Given the description of an element on the screen output the (x, y) to click on. 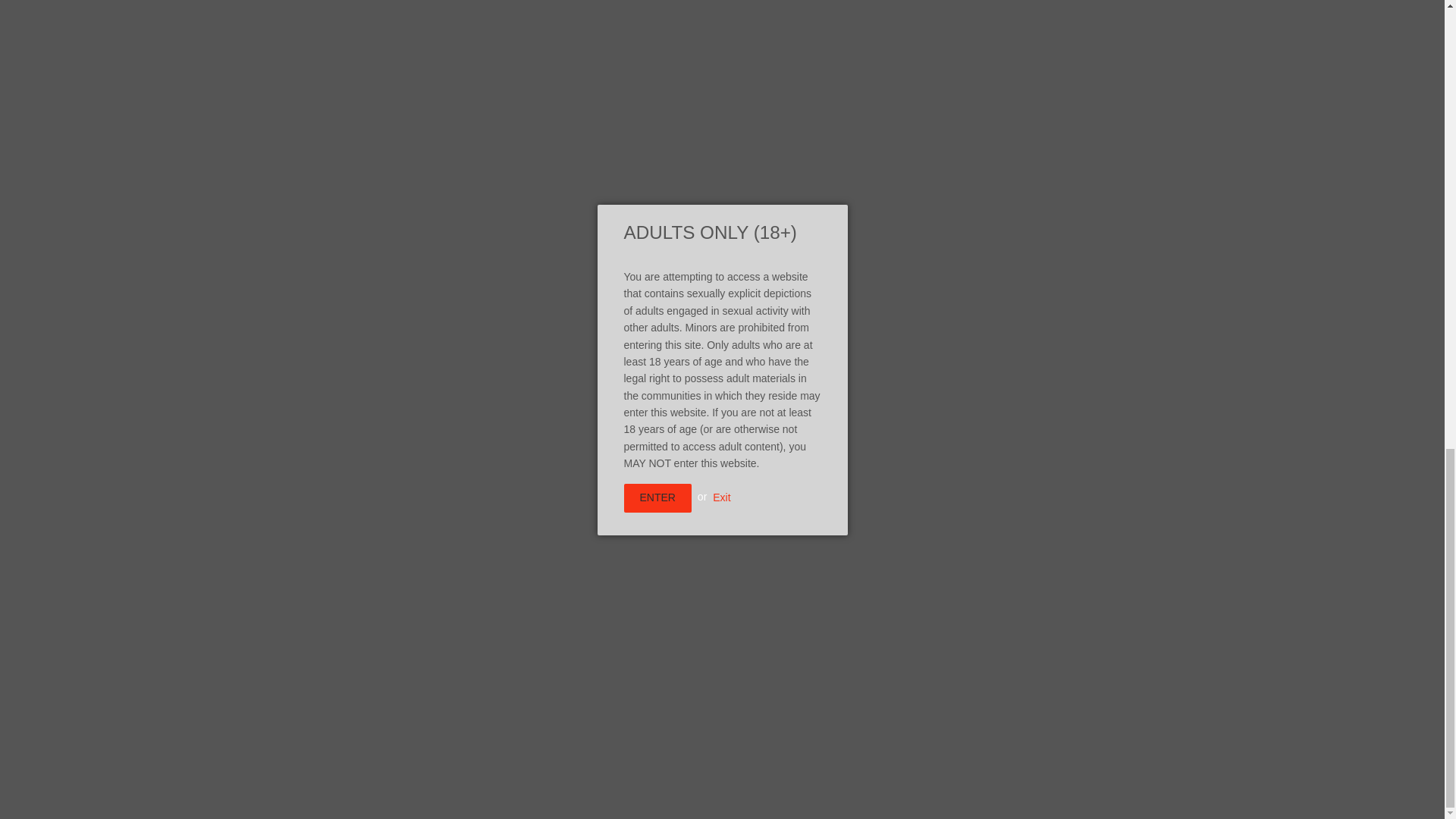
Diners Club (845, 794)
Discover (886, 794)
Shop Pay (1046, 794)
SIGN UP (1071, 682)
Pin on Pinterest (678, 208)
About Us (793, 208)
Meta Pay (457, 753)
Certificate of Compliance (736, 208)
